Given the description of an element on the screen output the (x, y) to click on. 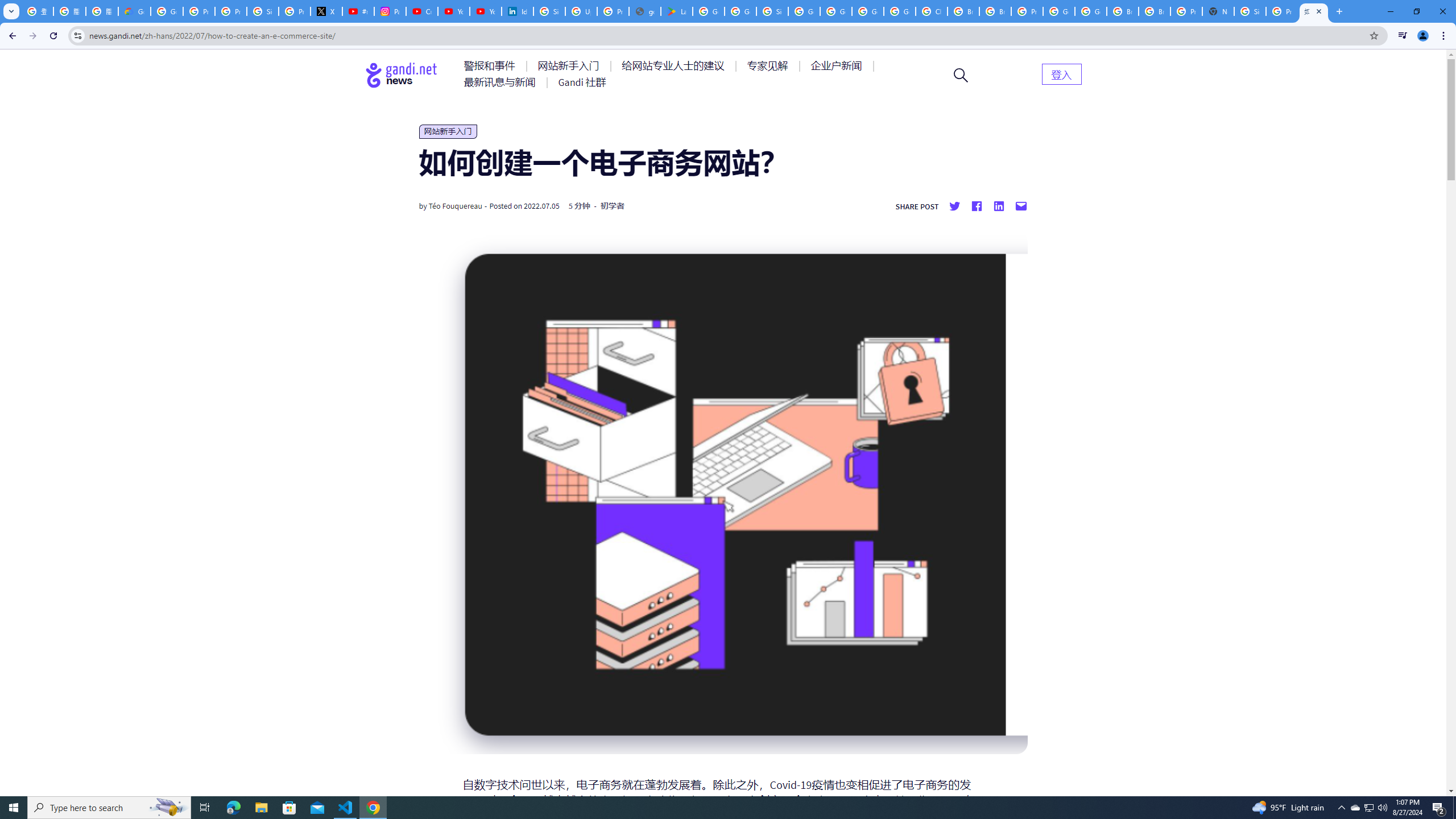
google_privacy_policy_en.pdf (644, 11)
AutomationID: menu-item-77761 (492, 65)
Share on facebook (975, 205)
Sign in - Google Accounts (1249, 11)
Sign in - Google Accounts (262, 11)
YouTube Culture & Trends - YouTube Top 10, 2021 (485, 11)
Sign in - Google Accounts (772, 11)
AutomationID: menu-item-77767 (581, 82)
Browse Chrome as a guest - Computer - Google Chrome Help (963, 11)
Privacy Help Center - Policies Help (230, 11)
